Given the description of an element on the screen output the (x, y) to click on. 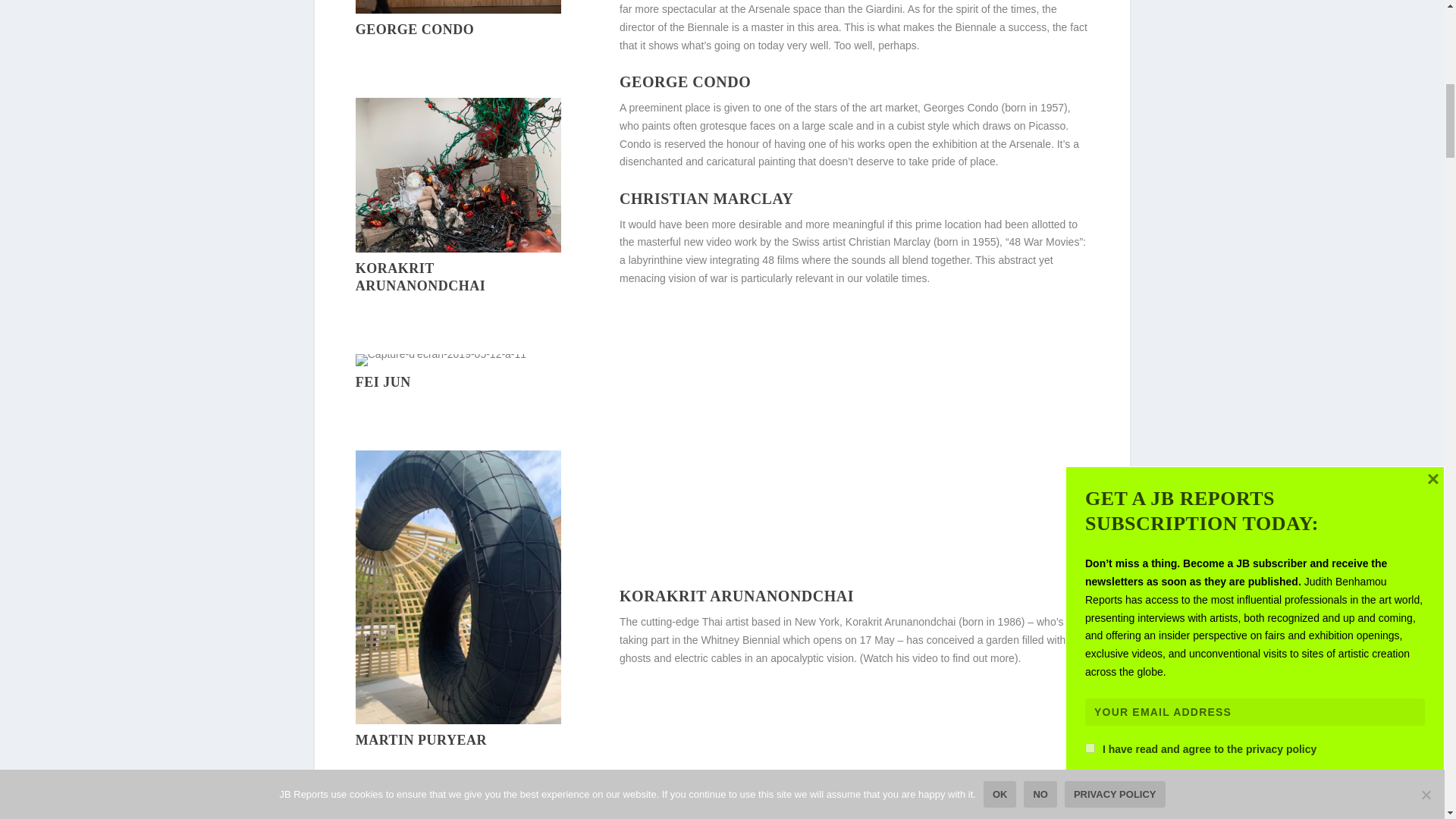
Fei Jun (440, 354)
Martin Puryear (457, 720)
George Condo (457, 9)
Korakrit Arunanondchai (457, 248)
